Given the description of an element on the screen output the (x, y) to click on. 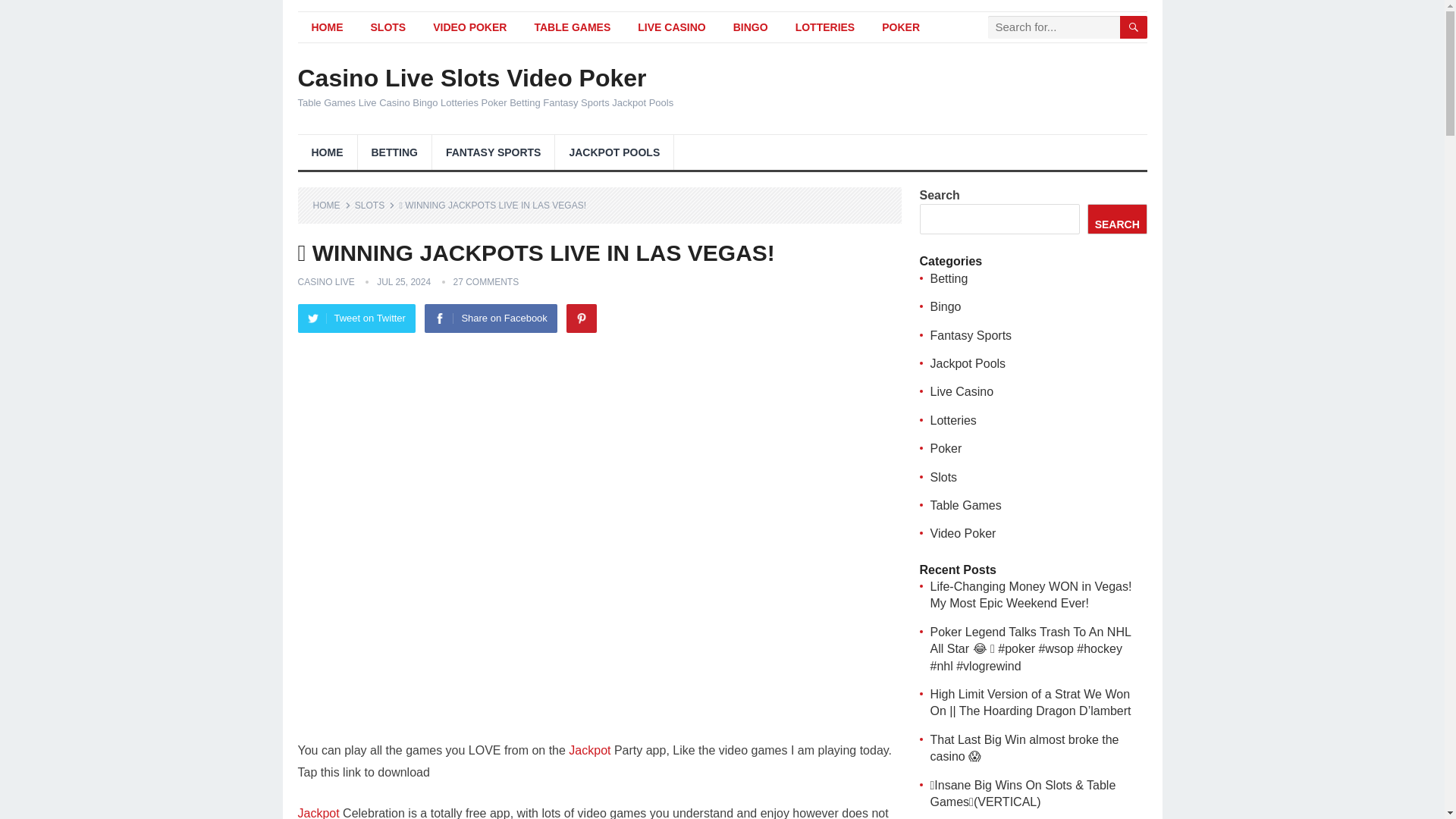
Tweet on Twitter (355, 317)
POKER (900, 27)
Posts tagged with jackpot (318, 812)
Jackpot (589, 749)
Posts tagged with jackpot (589, 749)
HOME (331, 204)
Pinterest (581, 317)
BETTING (394, 152)
CASINO LIVE (325, 281)
27 COMMENTS (485, 281)
